Given the description of an element on the screen output the (x, y) to click on. 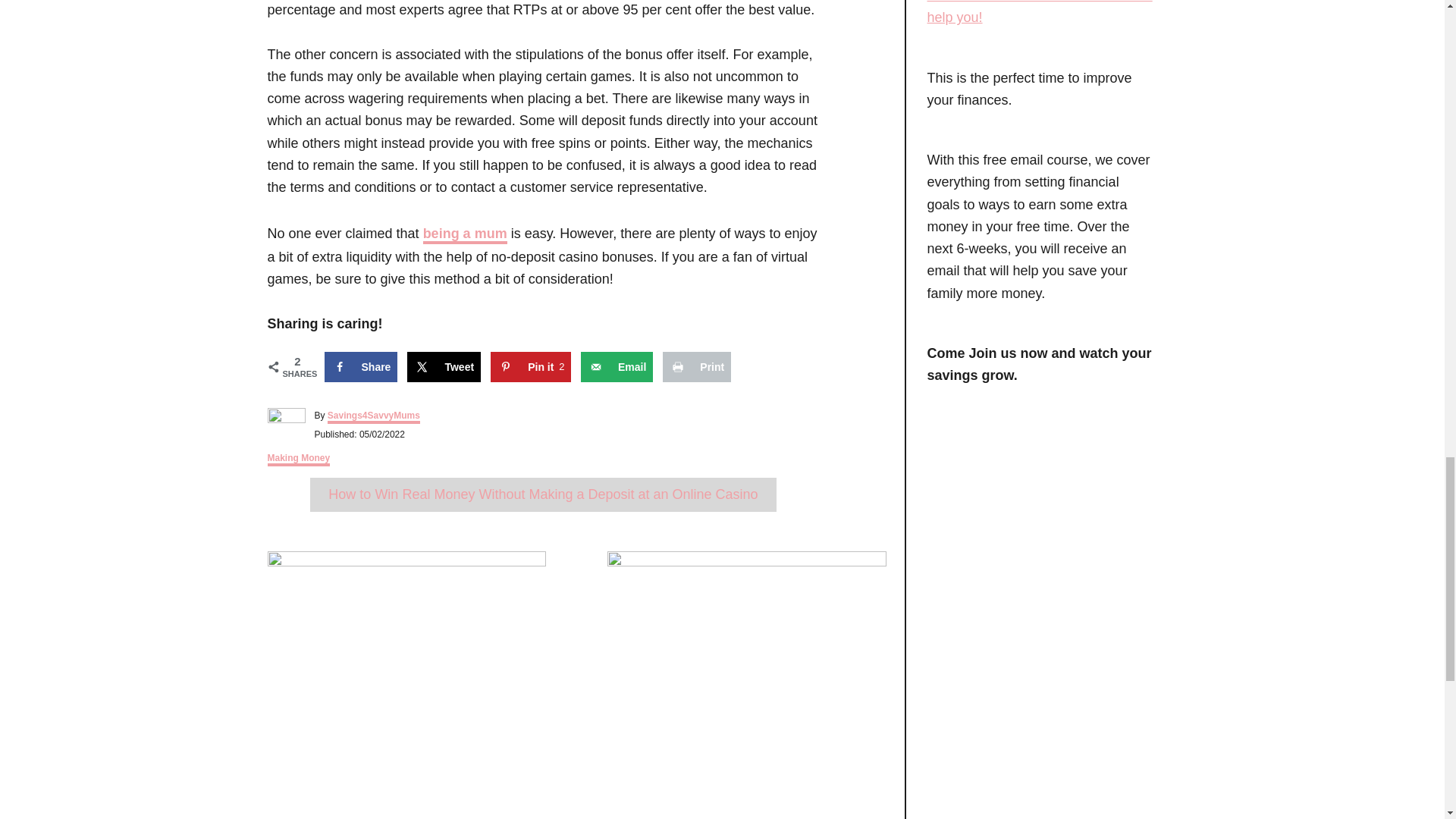
Print (696, 367)
Tweet (443, 367)
Share on Facebook (360, 367)
Print this webpage (696, 367)
being a mum (464, 235)
Send over email (616, 367)
Save to Pinterest (530, 367)
Share on X (530, 367)
Making Money (443, 367)
Email (298, 459)
Savings4SavvyMums (616, 367)
Share (373, 417)
